Given the description of an element on the screen output the (x, y) to click on. 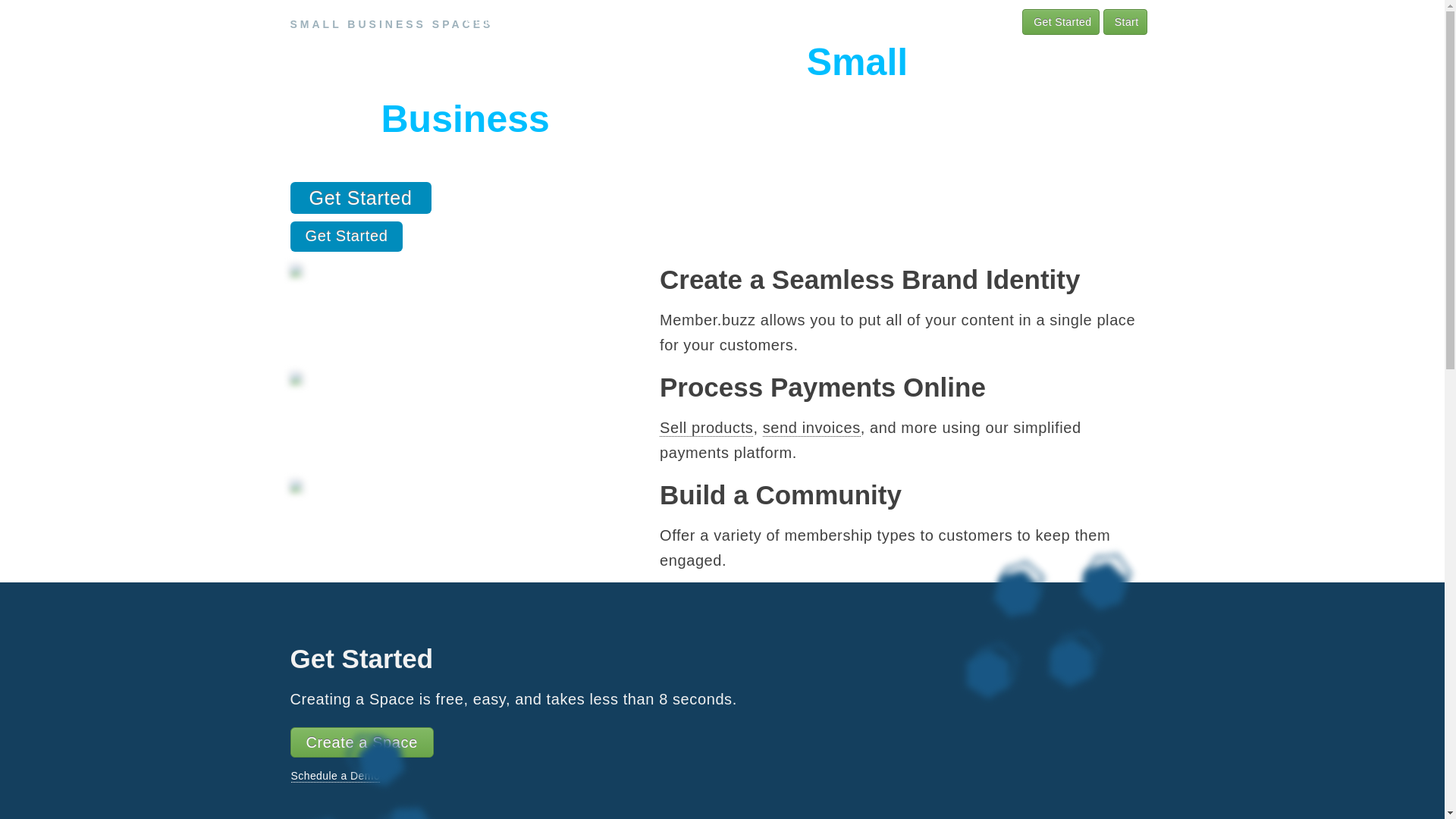
Start Element type: text (1125, 21)
Products  Element type: text (490, 20)
Create a Space Element type: text (361, 742)
Company  Element type: text (718, 20)
Schedule a Demo Element type: text (334, 775)
Get Started Element type: text (359, 197)
Solutions  Element type: text (563, 20)
Sell products Element type: text (706, 427)
send invoices Element type: text (811, 427)
Get Started Element type: text (1060, 21)
Resources  Element type: text (641, 20)
Get Started Element type: text (345, 236)
Login Element type: text (984, 22)
